Given the description of an element on the screen output the (x, y) to click on. 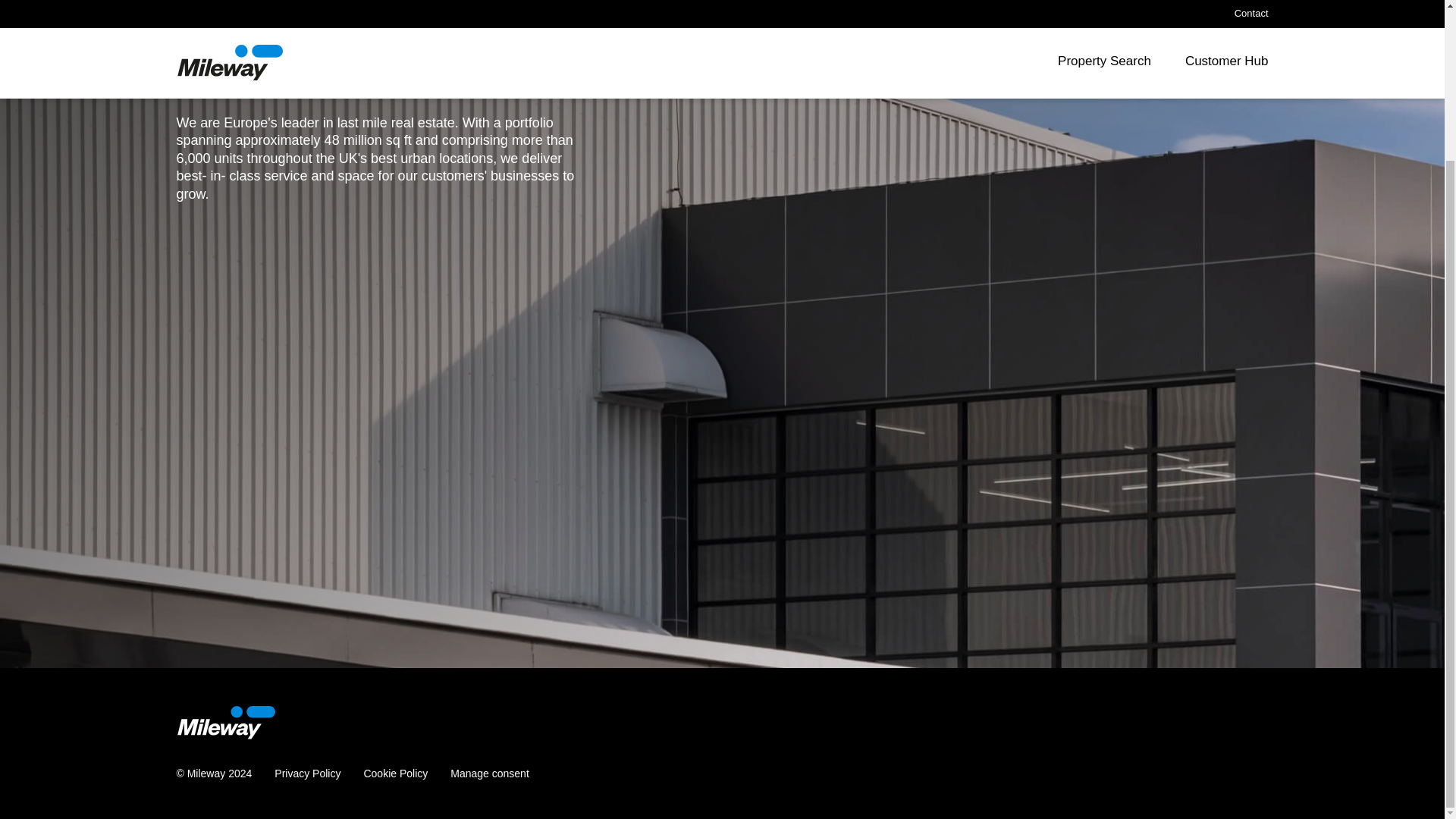
Manage consent (489, 773)
Cookie Policy (395, 773)
Privacy Policy (307, 773)
